Given the description of an element on the screen output the (x, y) to click on. 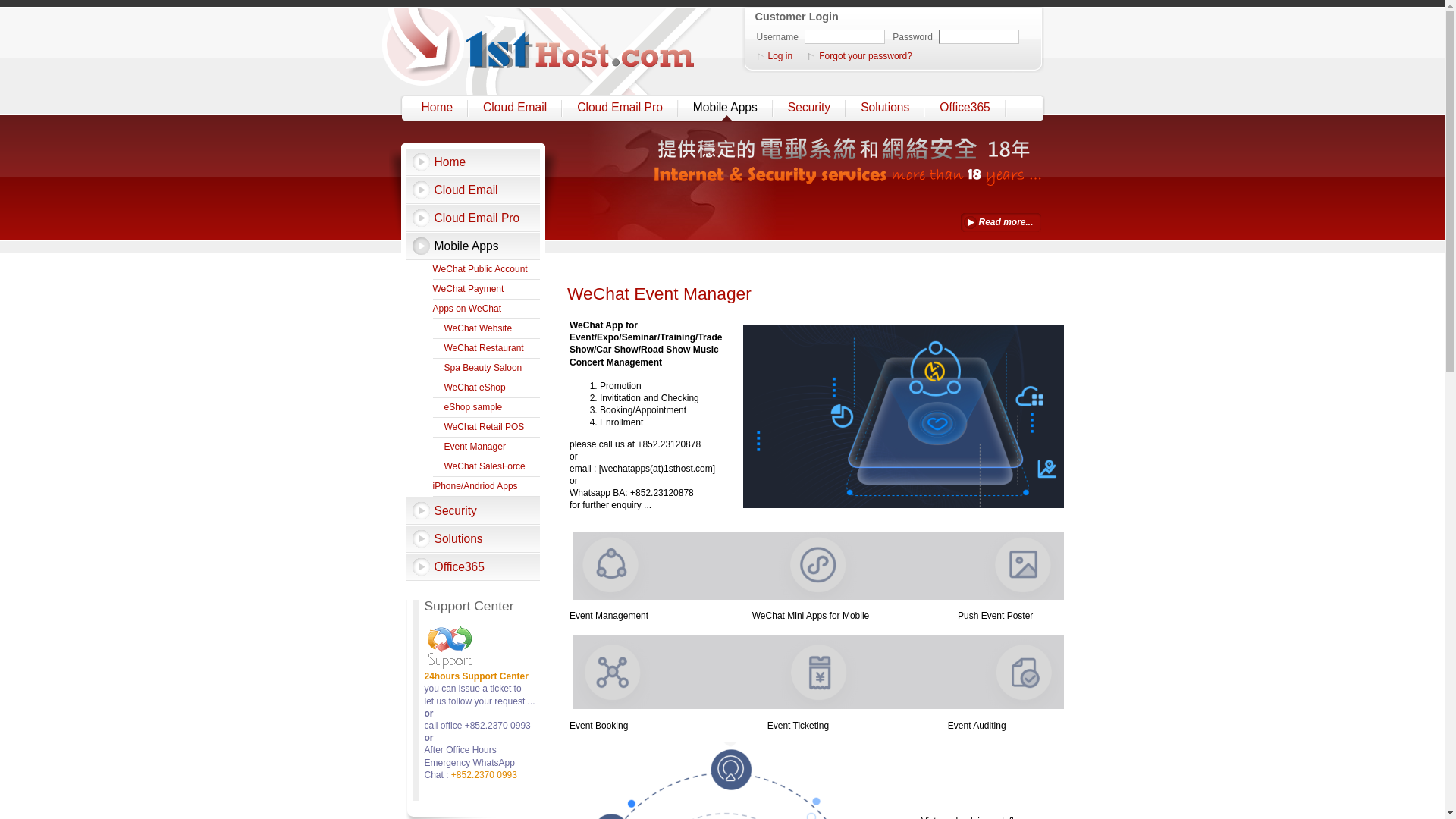
wechat_app_events_banner1.png Element type: hover (819, 565)
WeChat eShop Element type: text (485, 388)
Solutions Element type: text (473, 538)
Office365 Element type: text (965, 108)
WeChat Public Account Element type: text (485, 269)
Apps on WeChat Element type: text (485, 309)
Read more... Element type: text (1000, 222)
Solutions Element type: text (886, 108)
WeChat SalesForce Element type: text (485, 466)
Forgot your password? Element type: text (863, 56)
Office365 Element type: text (473, 566)
Home Element type: text (438, 108)
Cloud Email Pro Element type: text (473, 217)
Security Element type: text (473, 510)
Security Element type: text (810, 108)
24hours Support Center Element type: text (476, 676)
Mobile Apps Element type: text (726, 108)
eShop sample Element type: text (485, 407)
WeChat Restaurant Element type: text (485, 348)
Home Element type: text (473, 161)
Cloud Email Element type: text (516, 108)
Event Manager Element type: text (485, 447)
+852.2370 0993 Element type: text (484, 774)
WeChat Website Element type: text (485, 328)
Log in Element type: text (778, 56)
wechat_app_events_banner2.png Element type: hover (819, 672)
wechat_app_events.png Element type: hover (906, 416)
Spa Beauty Saloon Element type: text (485, 368)
Cloud Email Pro Element type: text (621, 108)
Cloud Email Element type: text (473, 189)
WeChat Retail POS Element type: text (485, 427)
Mobile Apps Element type: text (473, 246)
iPhone/Andriod Apps Element type: text (485, 486)
WeChat Payment Element type: text (485, 289)
